Given the description of an element on the screen output the (x, y) to click on. 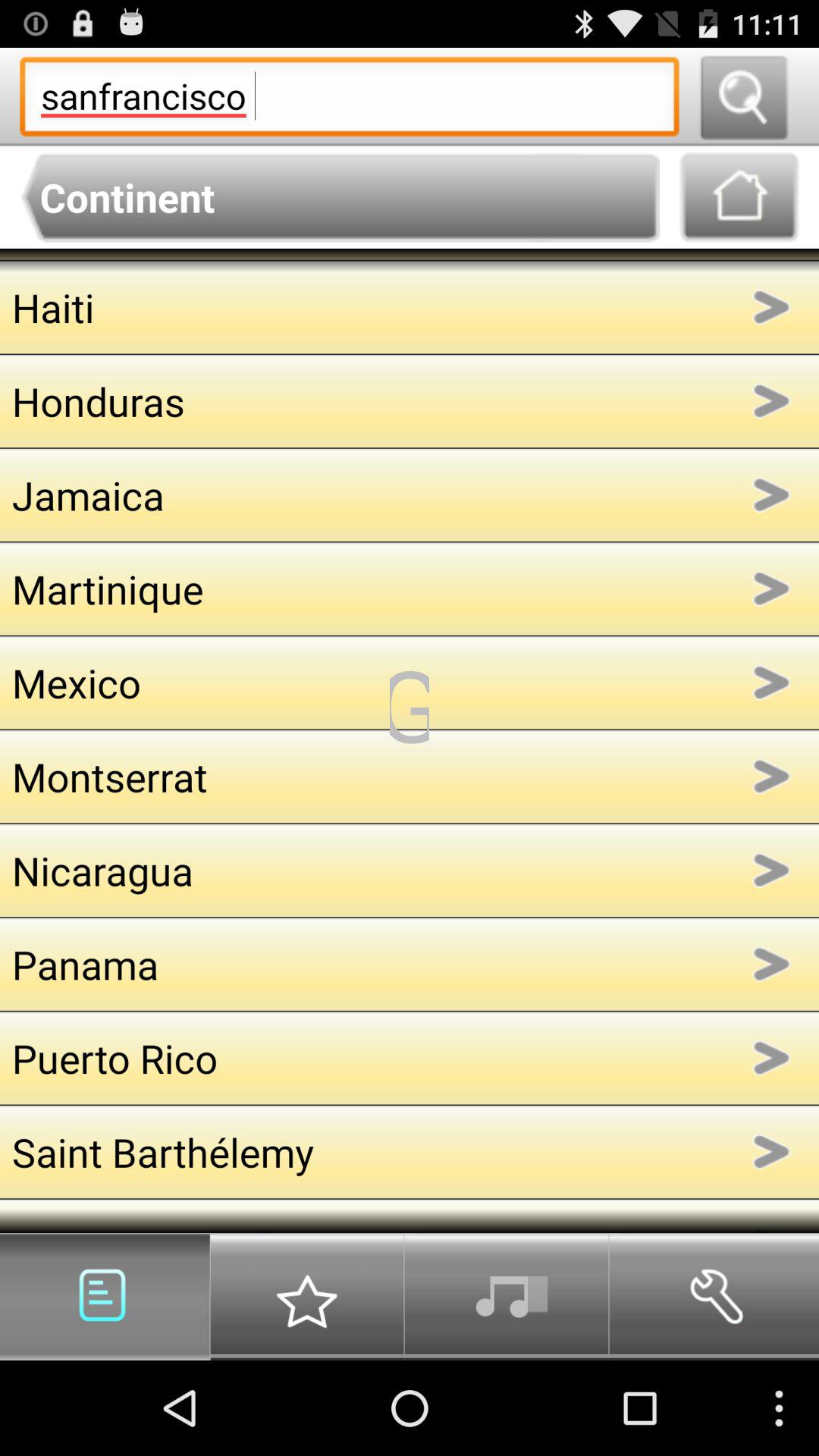
search query (743, 96)
